Given the description of an element on the screen output the (x, y) to click on. 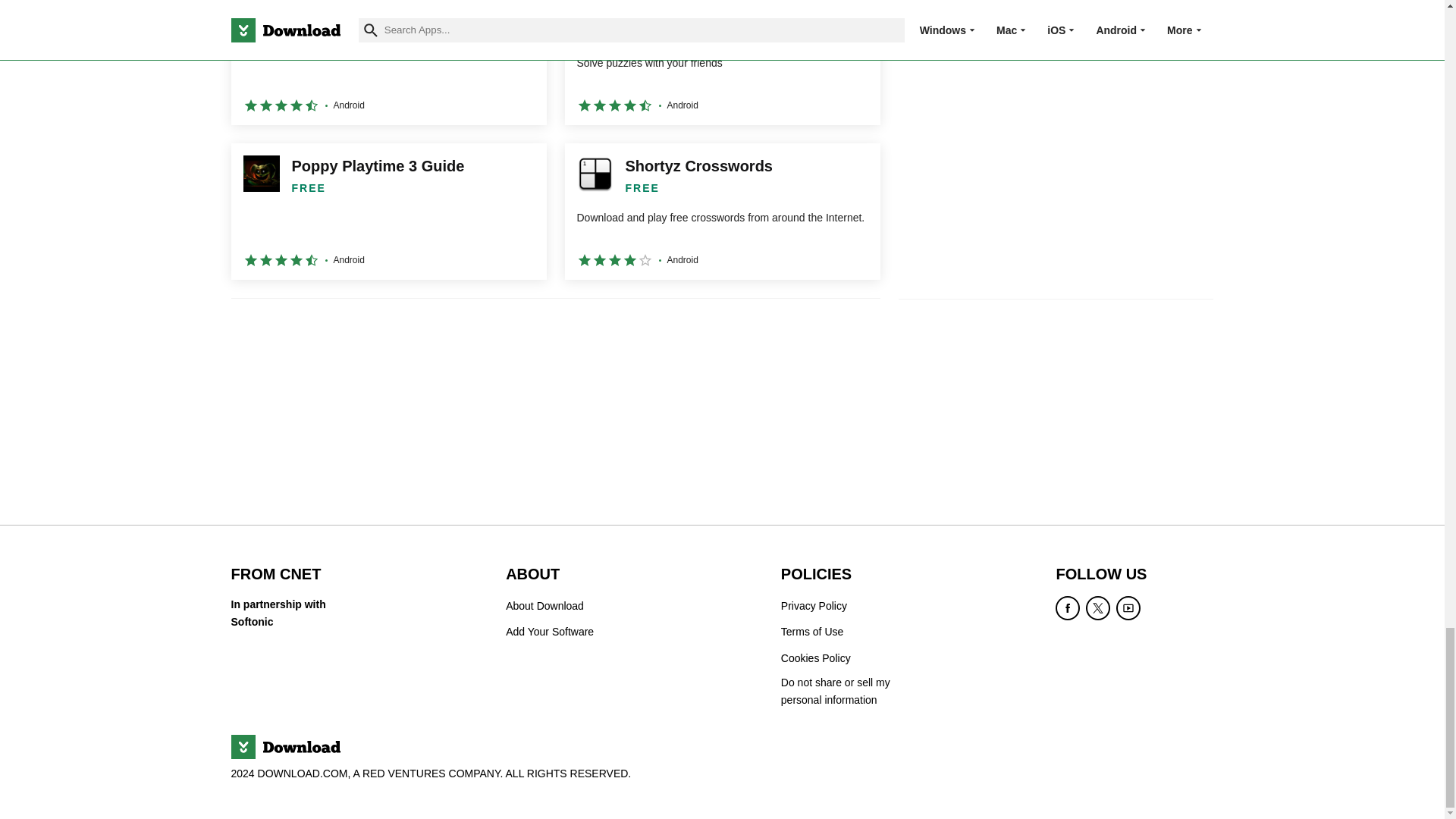
fafafa (388, 62)
Become a Facebook fan of Download.com (1067, 607)
Download.com (284, 746)
Shortyz Crosswords (721, 211)
Project Playtime (721, 62)
Poppy Playtime 3 Guide (388, 211)
